Given the description of an element on the screen output the (x, y) to click on. 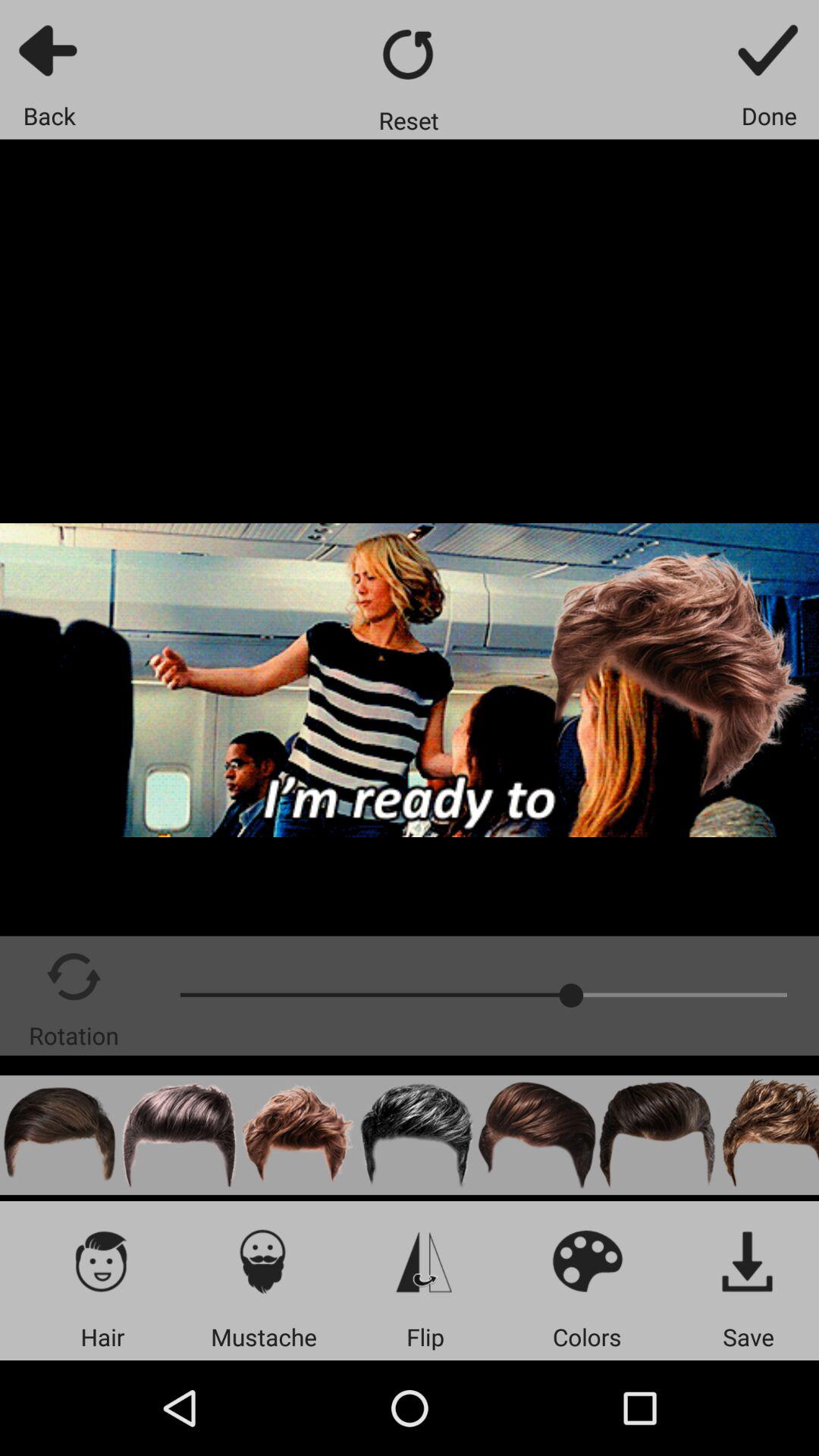
select picture (178, 1134)
